Given the description of an element on the screen output the (x, y) to click on. 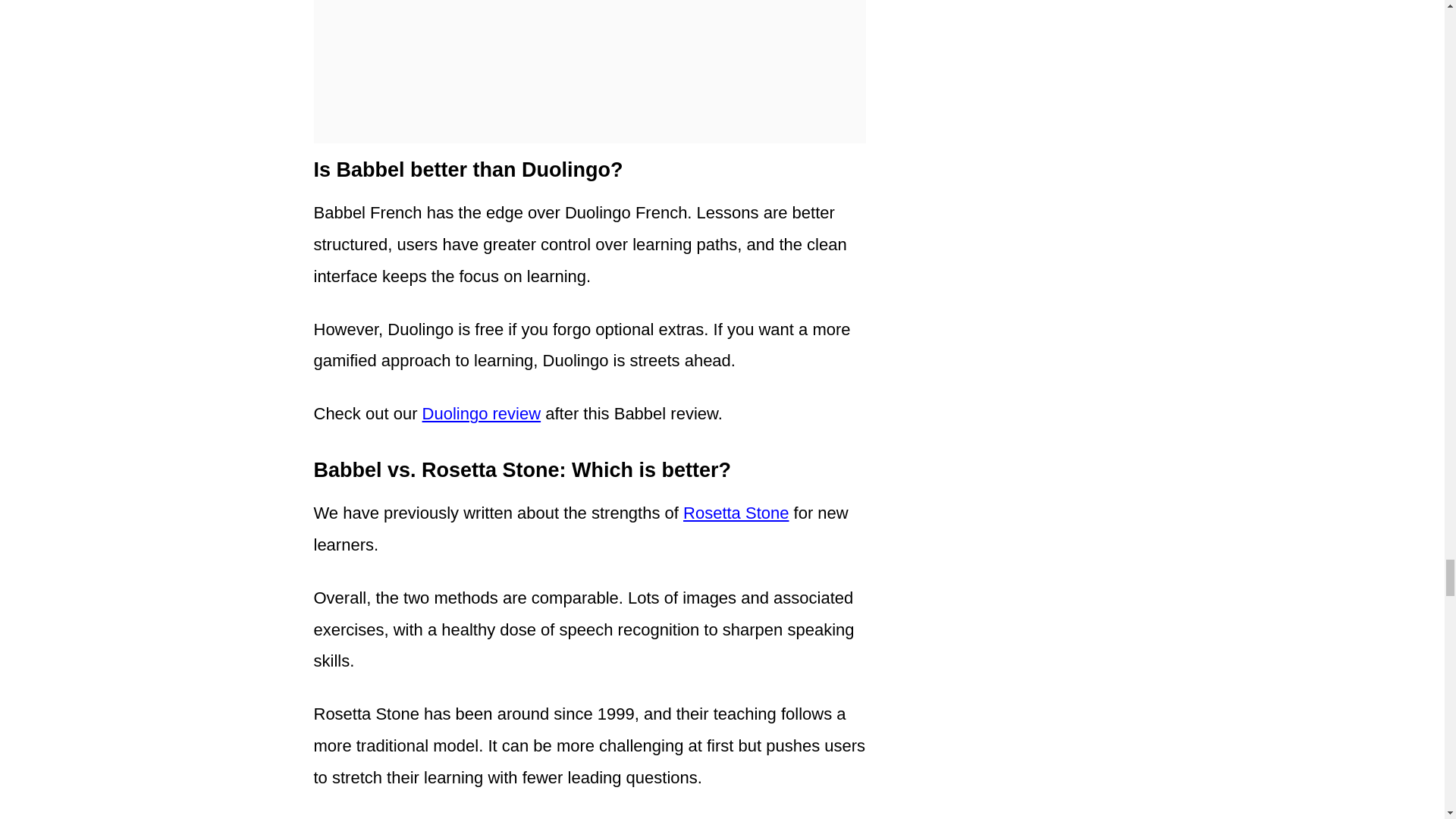
Rosetta Stone (735, 512)
Duolingo review (481, 413)
